Given the description of an element on the screen output the (x, y) to click on. 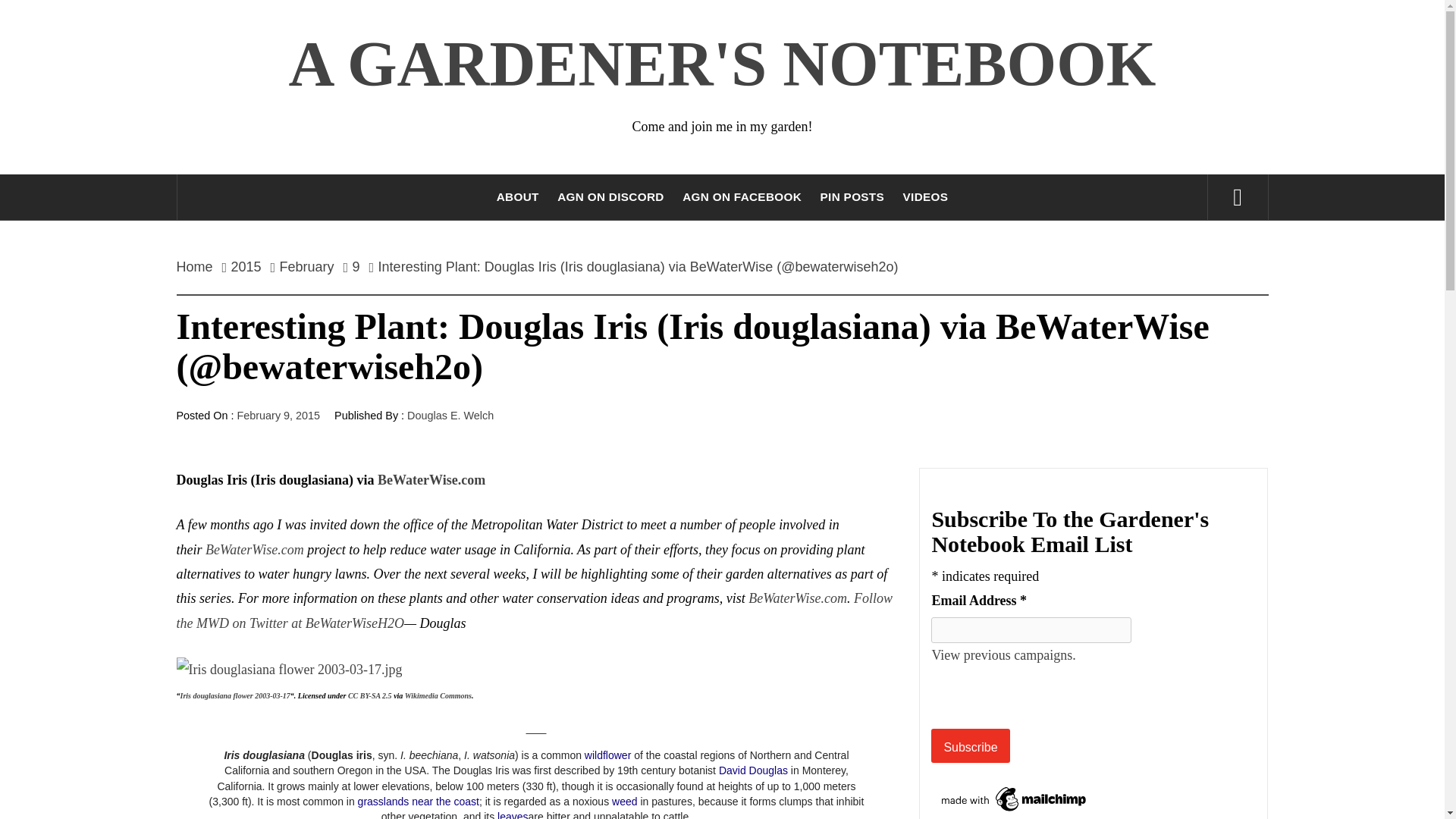
Wikimedia Commons (437, 695)
ABOUT (518, 197)
PIN POSTS (851, 197)
grasslands near the coast (418, 801)
2015 (246, 266)
BeWaterWise.com (797, 598)
Search (797, 37)
9 (356, 266)
Creative Commons Attribution-Share Alike 2.5 (369, 695)
AGN ON FACEBOOK (742, 197)
